Given the description of an element on the screen output the (x, y) to click on. 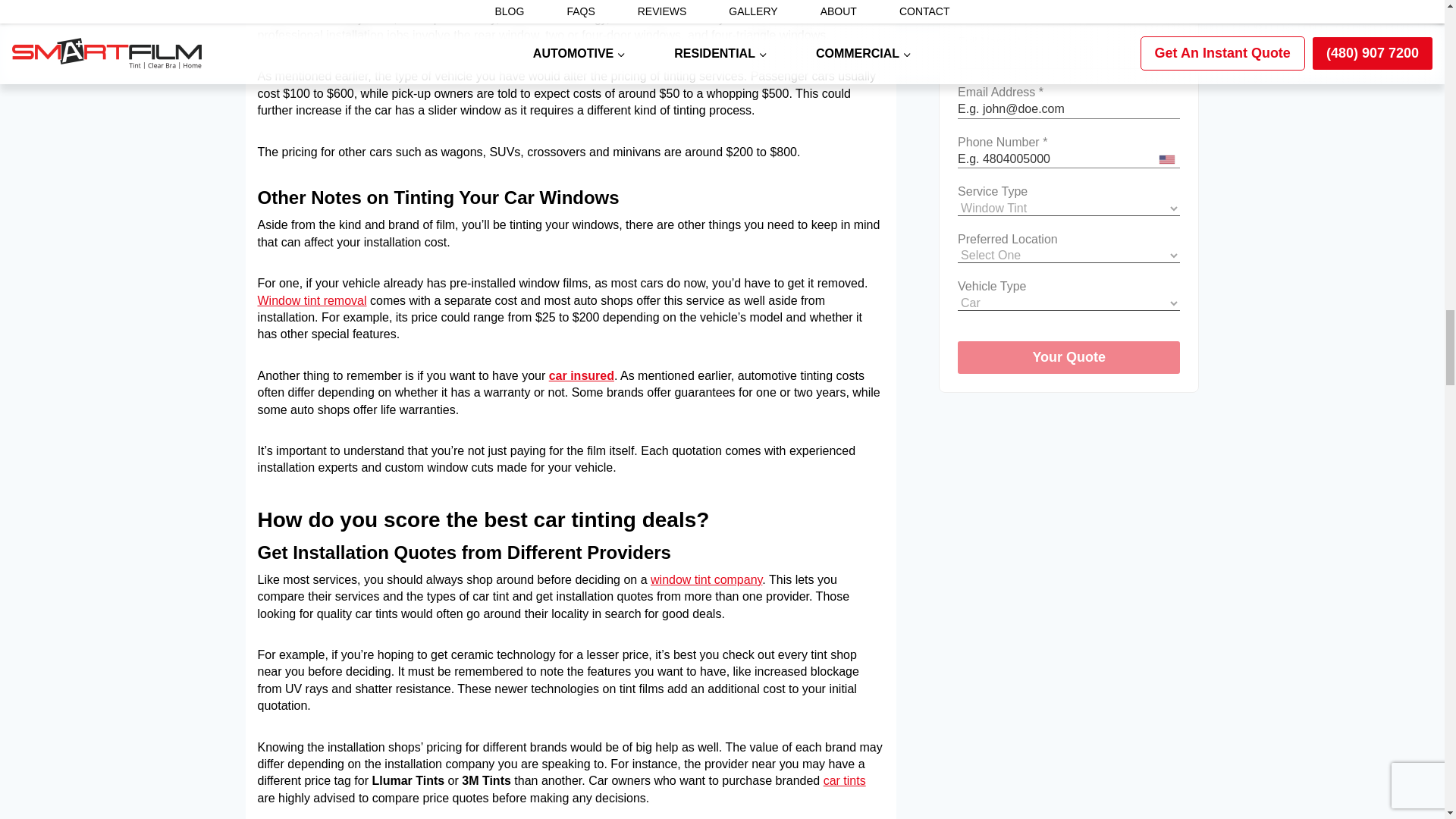
Window tint removal (311, 300)
car insured (581, 375)
